Given the description of an element on the screen output the (x, y) to click on. 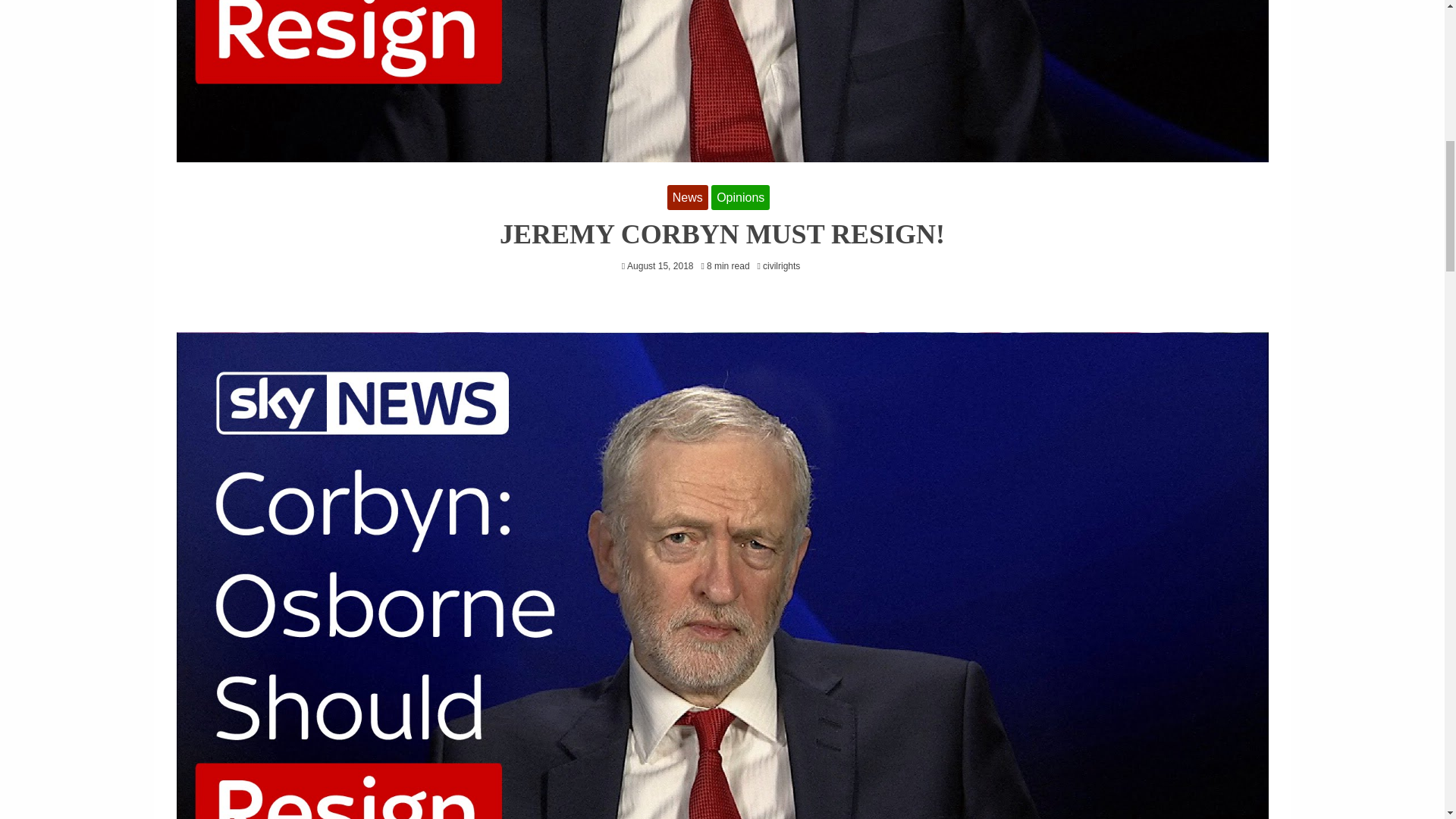
civilrights (785, 266)
News (686, 197)
August 15, 2018 (660, 266)
Opinions (740, 197)
